Given the description of an element on the screen output the (x, y) to click on. 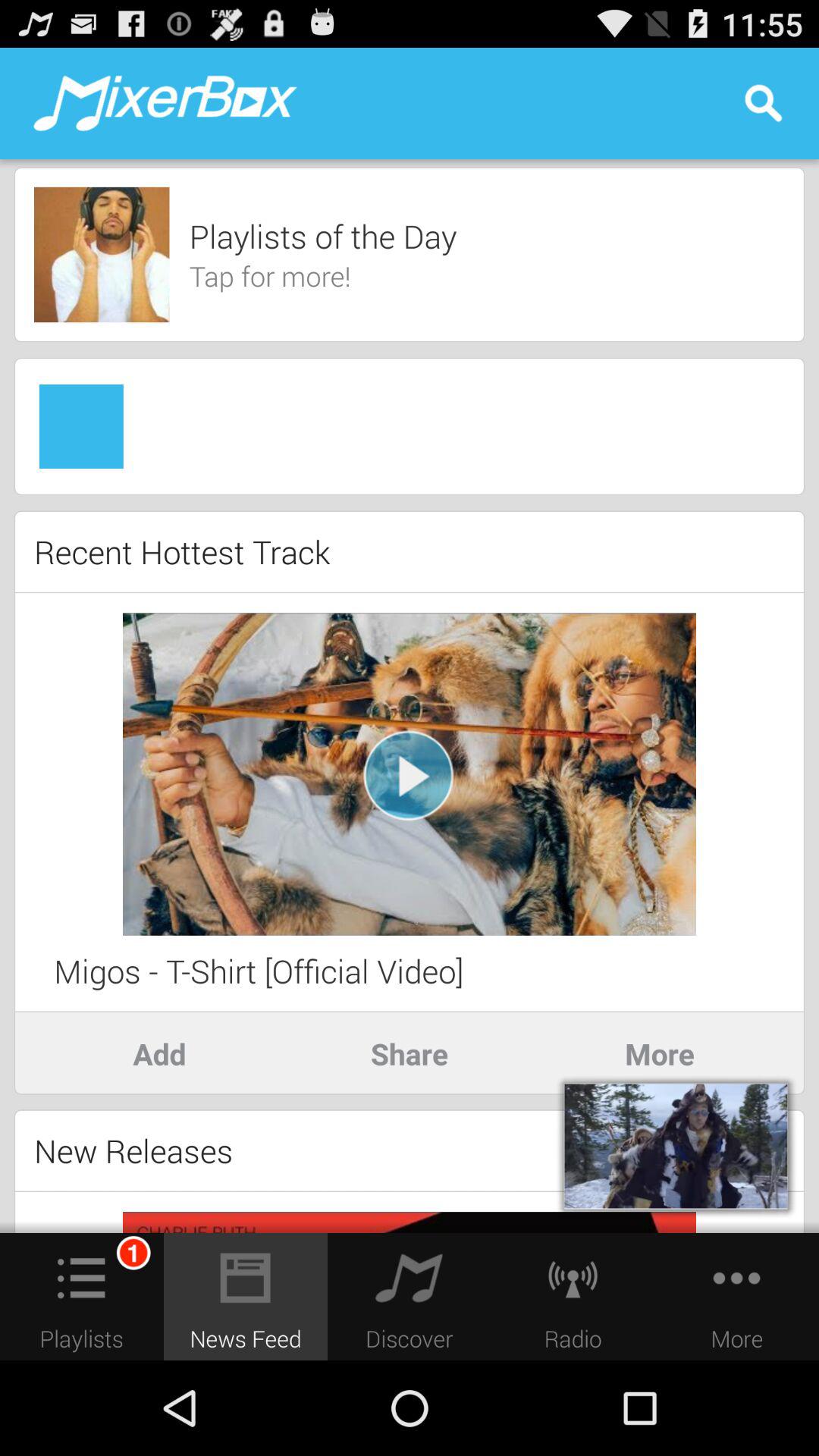
choose the icon at the top right corner (763, 103)
